Given the description of an element on the screen output the (x, y) to click on. 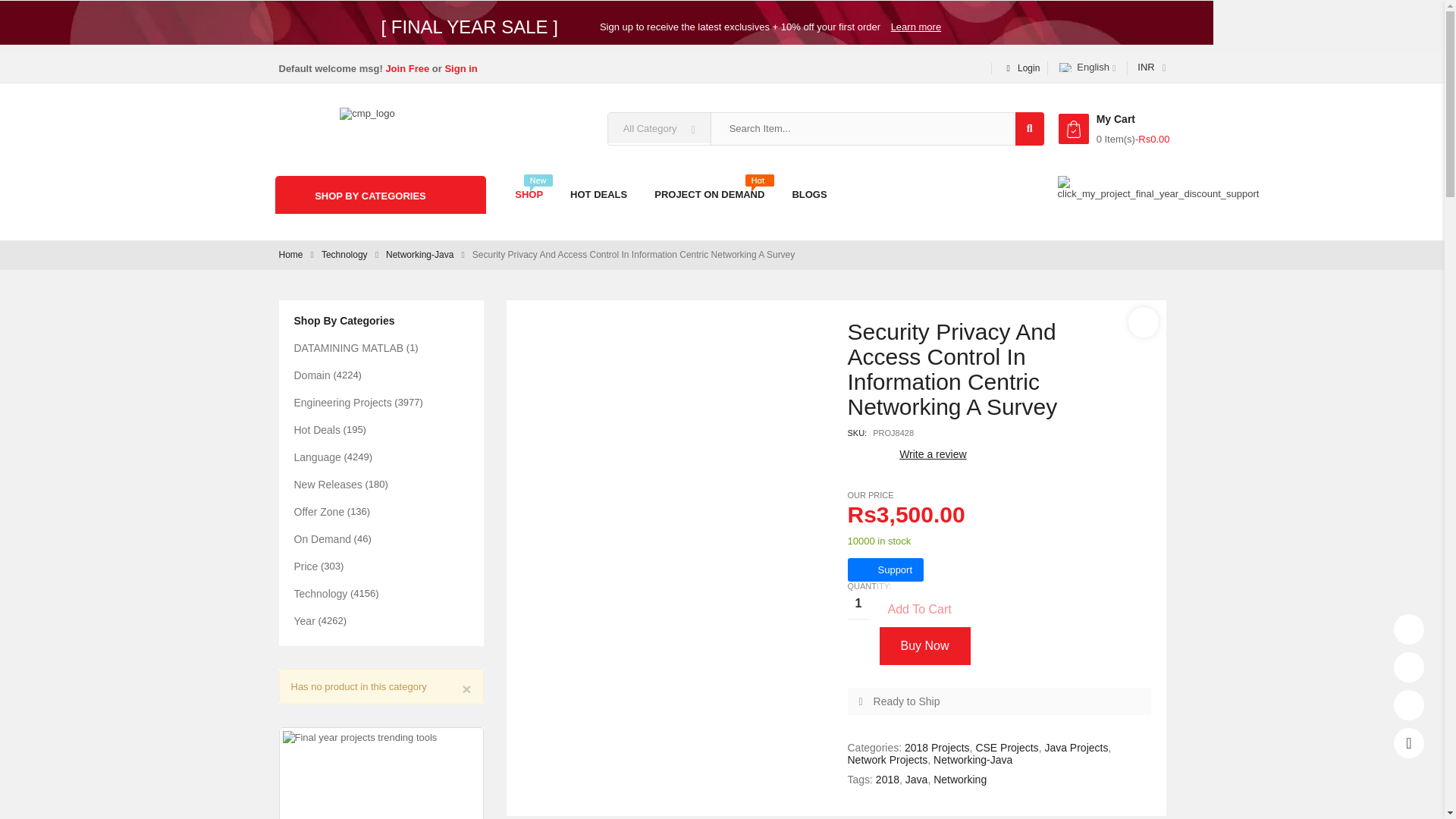
Login (1019, 68)
English (1066, 67)
Final year projects trending tools (380, 775)
Join Free (407, 68)
INR (1146, 68)
Learn more (915, 26)
Sign in (460, 68)
View your shopping cart (1073, 128)
